Given the description of an element on the screen output the (x, y) to click on. 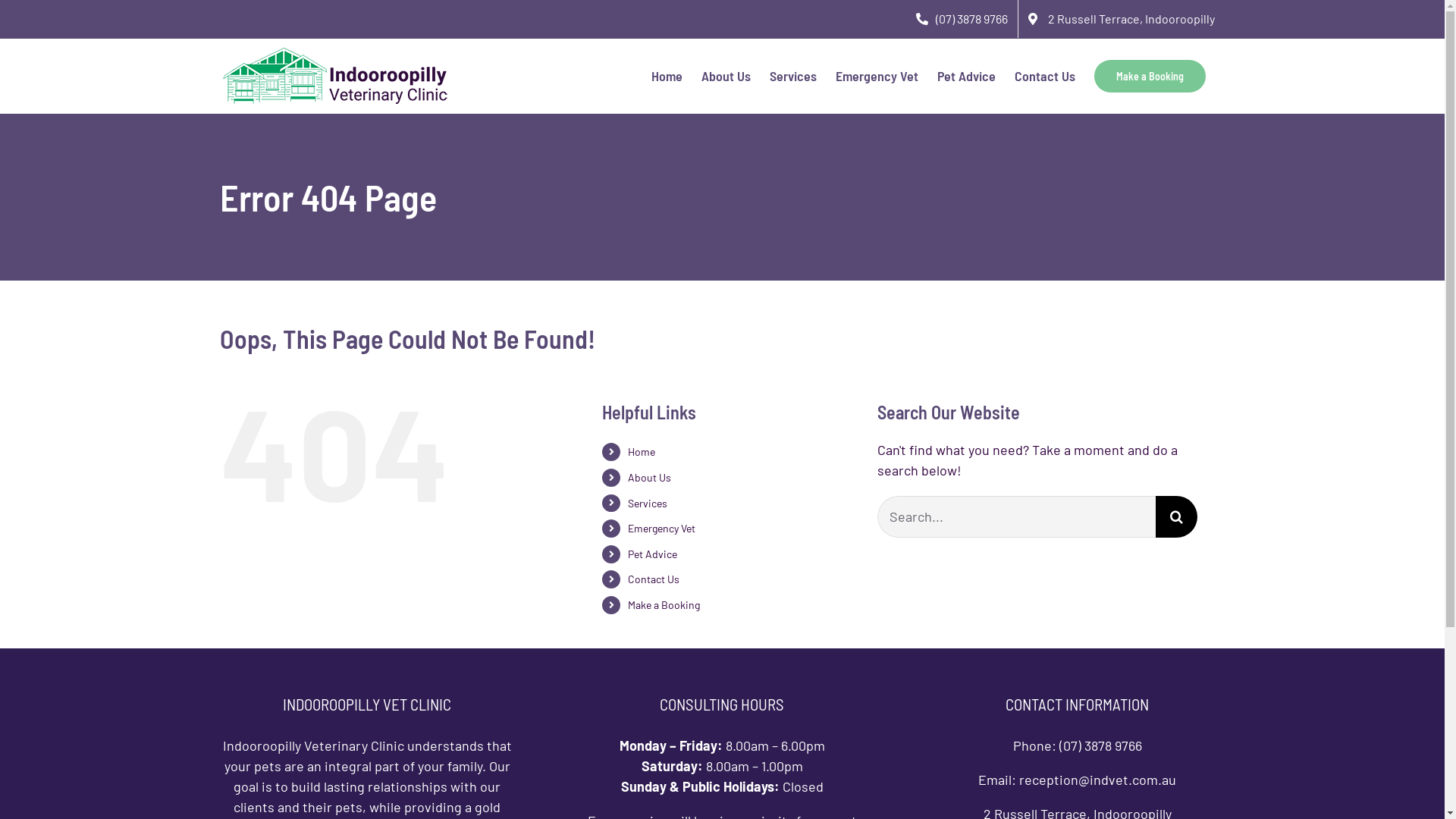
About Us Element type: text (725, 75)
2 Russell Terrace, Indooroopilly Element type: text (1121, 18)
Phone: (07) 3878 9766 Element type: text (1077, 745)
Make a Booking Element type: text (1149, 75)
(07) 3878 9766 Element type: text (961, 18)
Email: reception@indvet.com.au Element type: text (1077, 779)
Pet Advice Element type: text (652, 553)
Contact Us Element type: text (1044, 75)
Contact Us Element type: text (653, 578)
Make a Booking Element type: text (663, 604)
Emergency Vet Element type: text (876, 75)
Services Element type: text (792, 75)
Home Element type: text (641, 451)
Home Element type: text (666, 75)
Services Element type: text (647, 502)
About Us Element type: text (649, 476)
Emergency Vet Element type: text (661, 527)
Pet Advice Element type: text (966, 75)
